Given the description of an element on the screen output the (x, y) to click on. 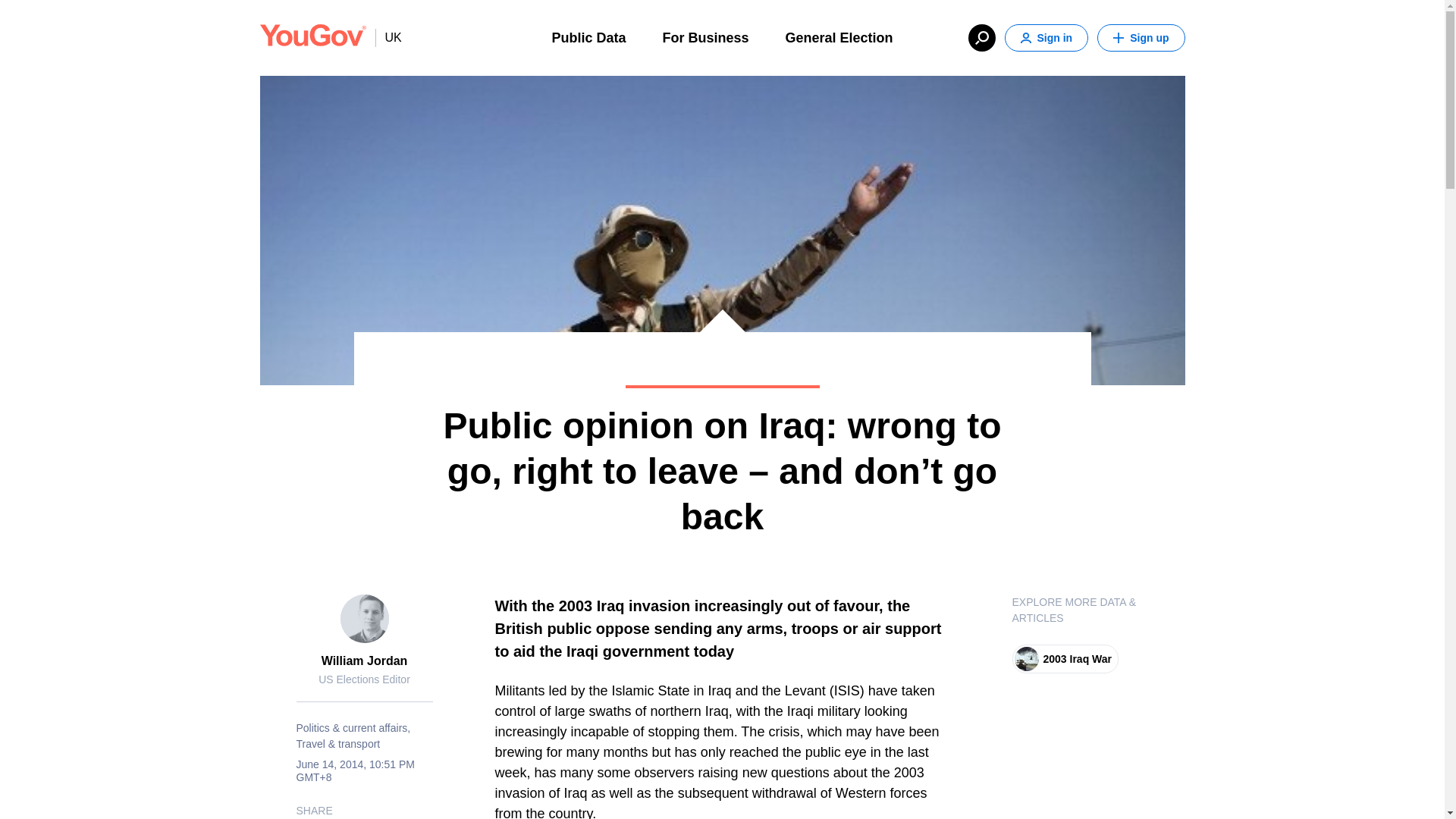
General Election (839, 37)
For Business (705, 37)
Sign up (1141, 37)
Public Data (588, 37)
Sign in (1045, 37)
UK (387, 37)
